Given the description of an element on the screen output the (x, y) to click on. 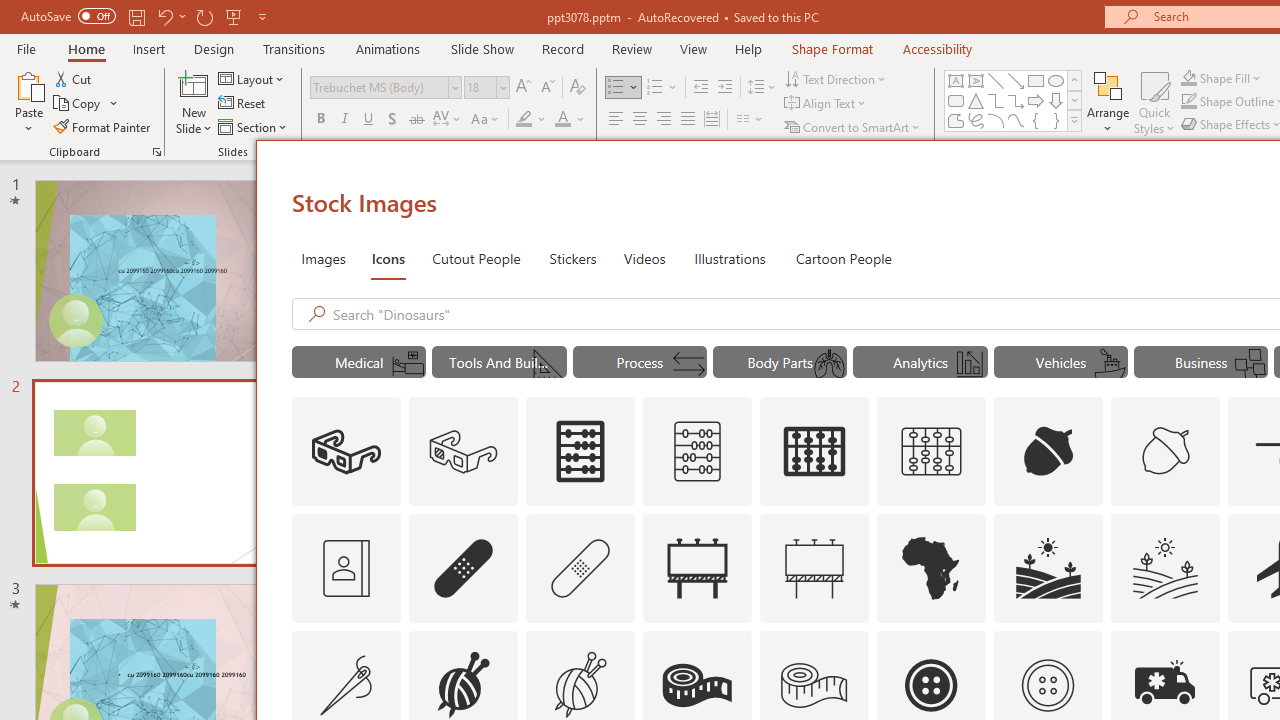
Icons (388, 258)
AutomationID: Icons_Agriculture_M (1165, 568)
Illustrations (729, 258)
AutomationID: Icons_Inpatient_M (408, 364)
"Medical" Icons. (358, 362)
Stickers (573, 258)
